Given the description of an element on the screen output the (x, y) to click on. 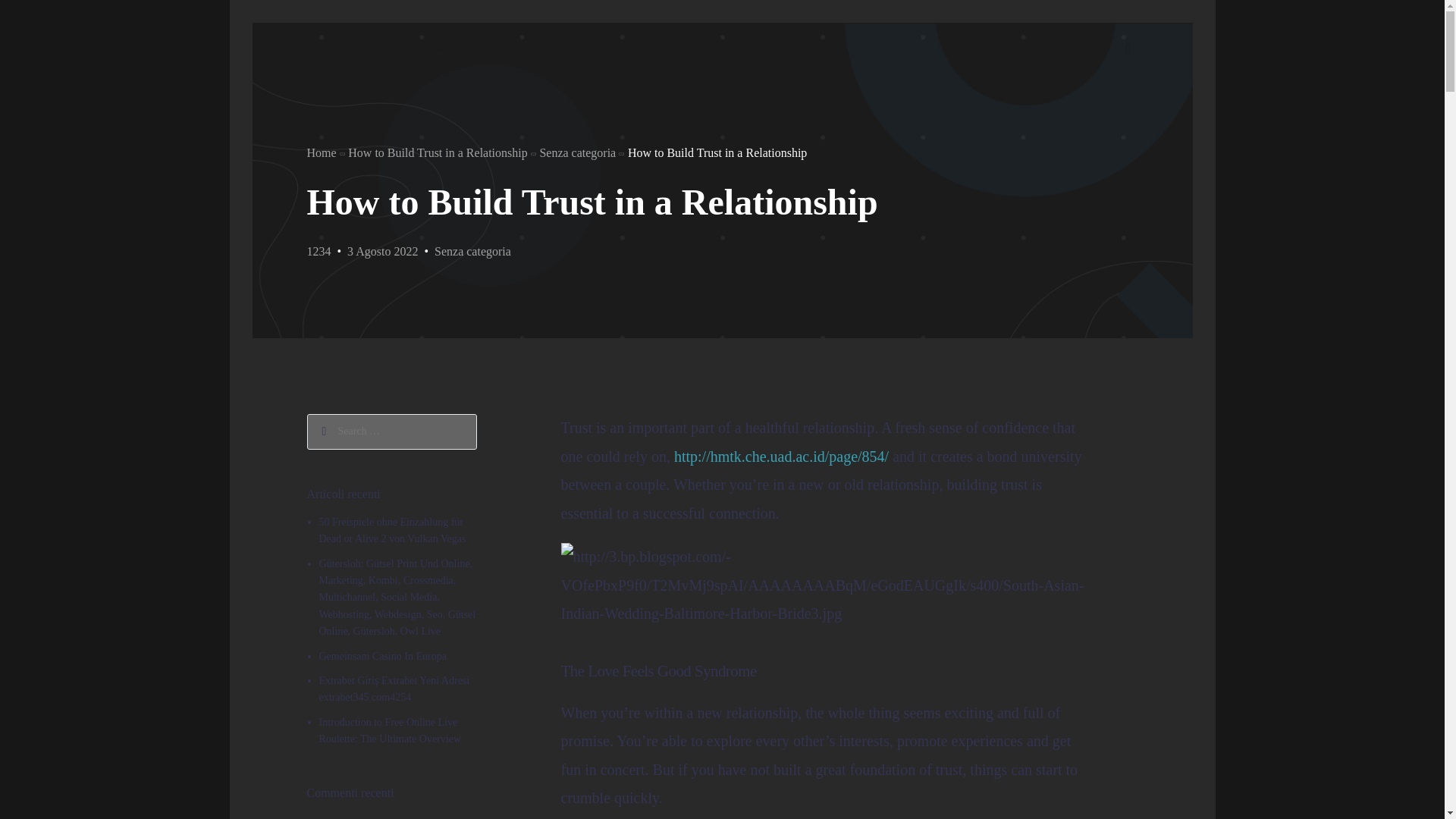
1234 (317, 250)
Gemeinsam Casino In Europa (381, 655)
Italiano (356, 48)
Senza categoria (576, 152)
Home (320, 152)
How to Build Trust in a Relationship (437, 152)
Senza categoria (472, 250)
